Given the description of an element on the screen output the (x, y) to click on. 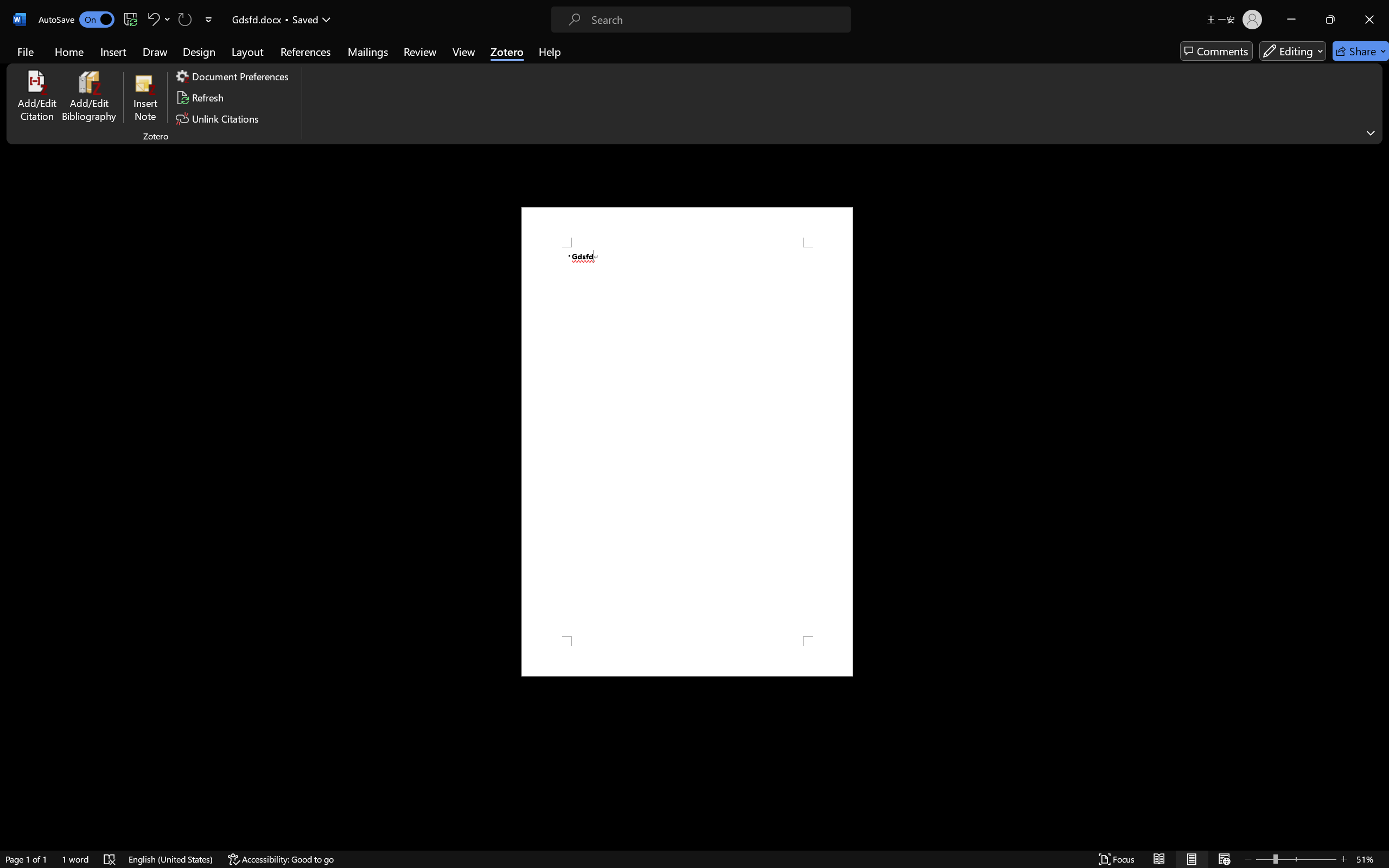
Arc (539, 72)
Cut (39, 47)
Microsoft search (708, 10)
Line (539, 48)
Row Down (583, 59)
